Given the description of an element on the screen output the (x, y) to click on. 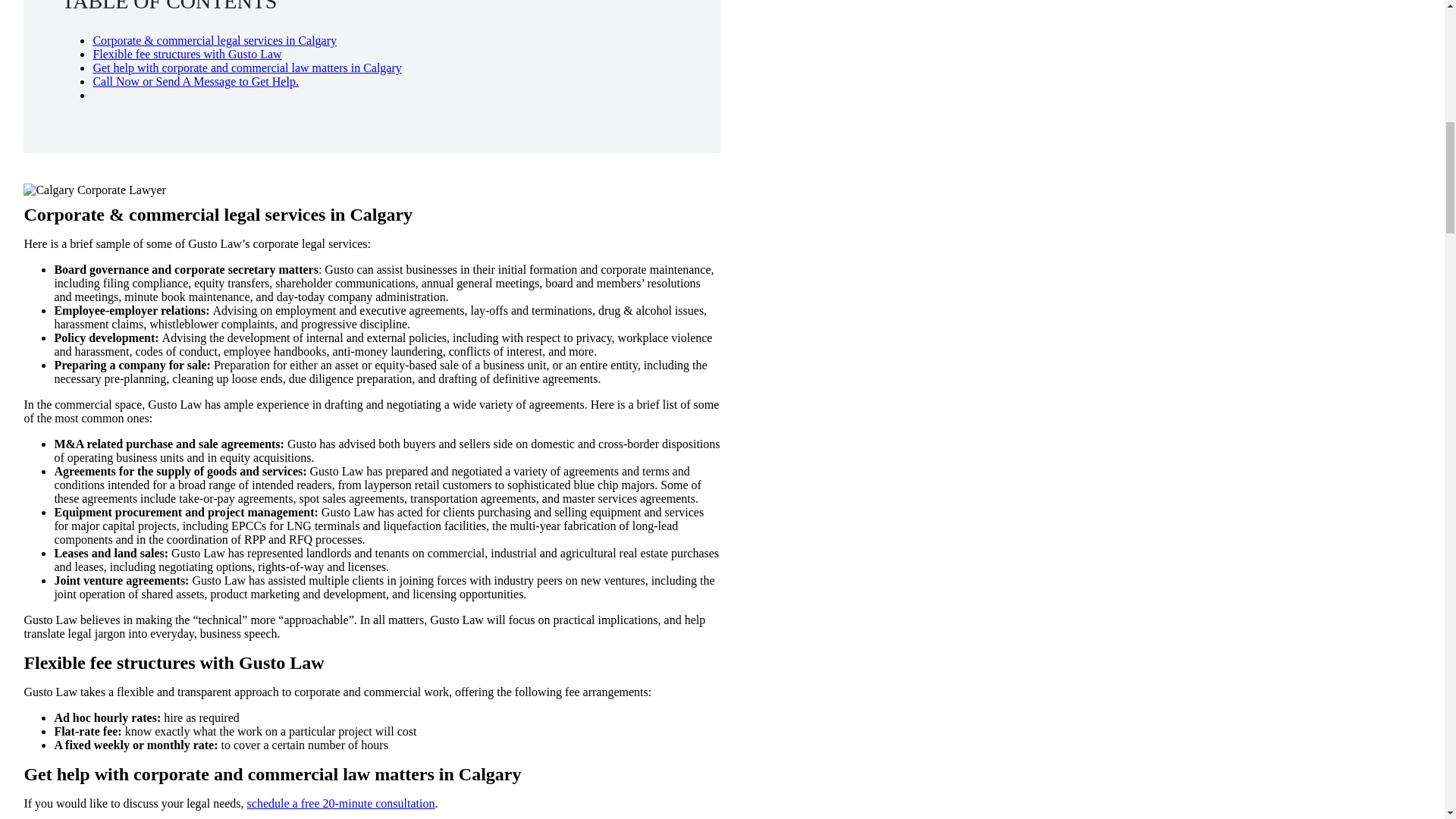
Flexible fee structures with Gusto Law (187, 53)
Calgary Corporate Lawyer (94, 190)
schedule a free 20-minute consultation (341, 802)
Call Now or Send A Message to Get Help. (195, 81)
